Given the description of an element on the screen output the (x, y) to click on. 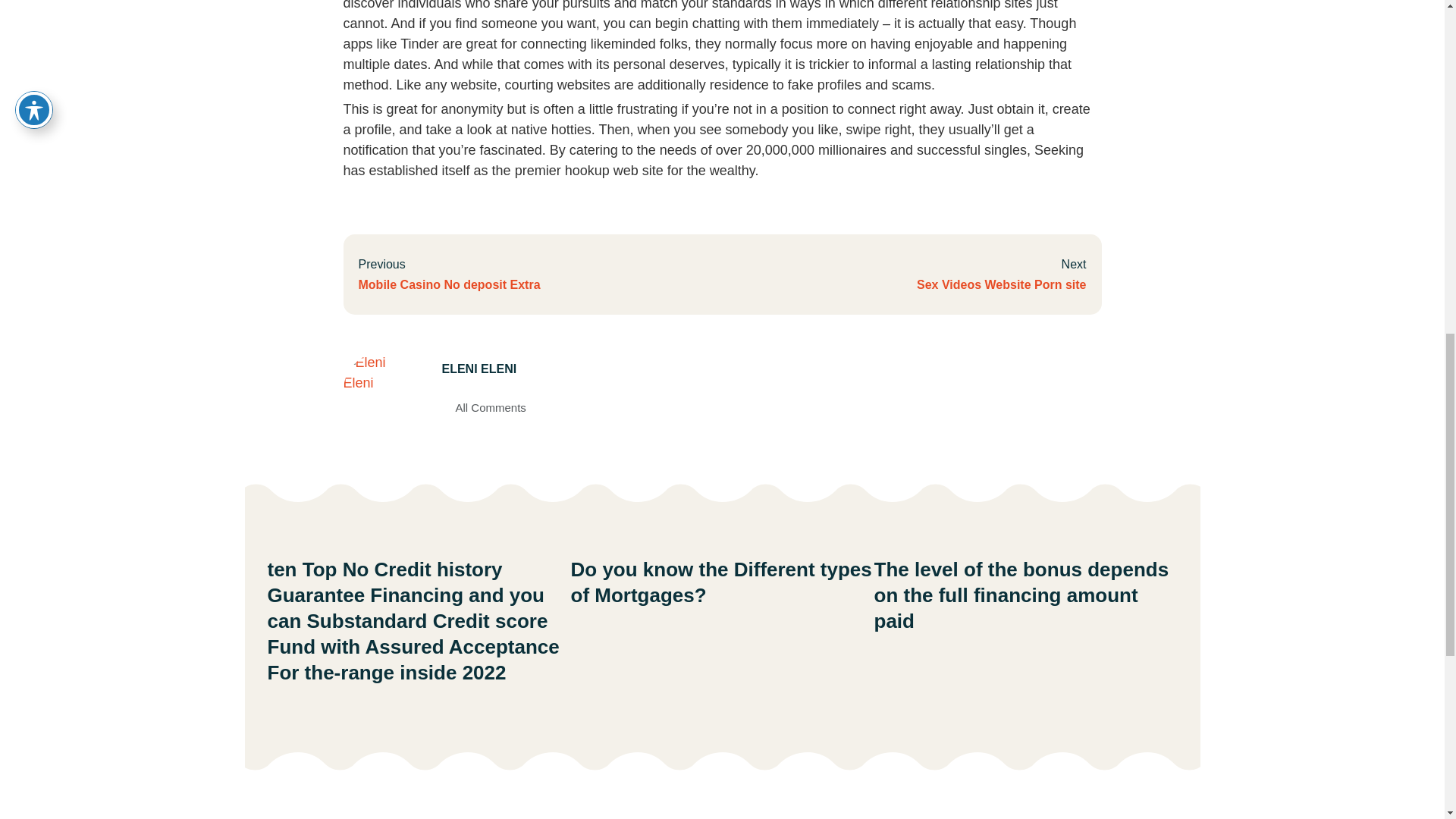
ELENI ELENI (904, 273)
